Given the description of an element on the screen output the (x, y) to click on. 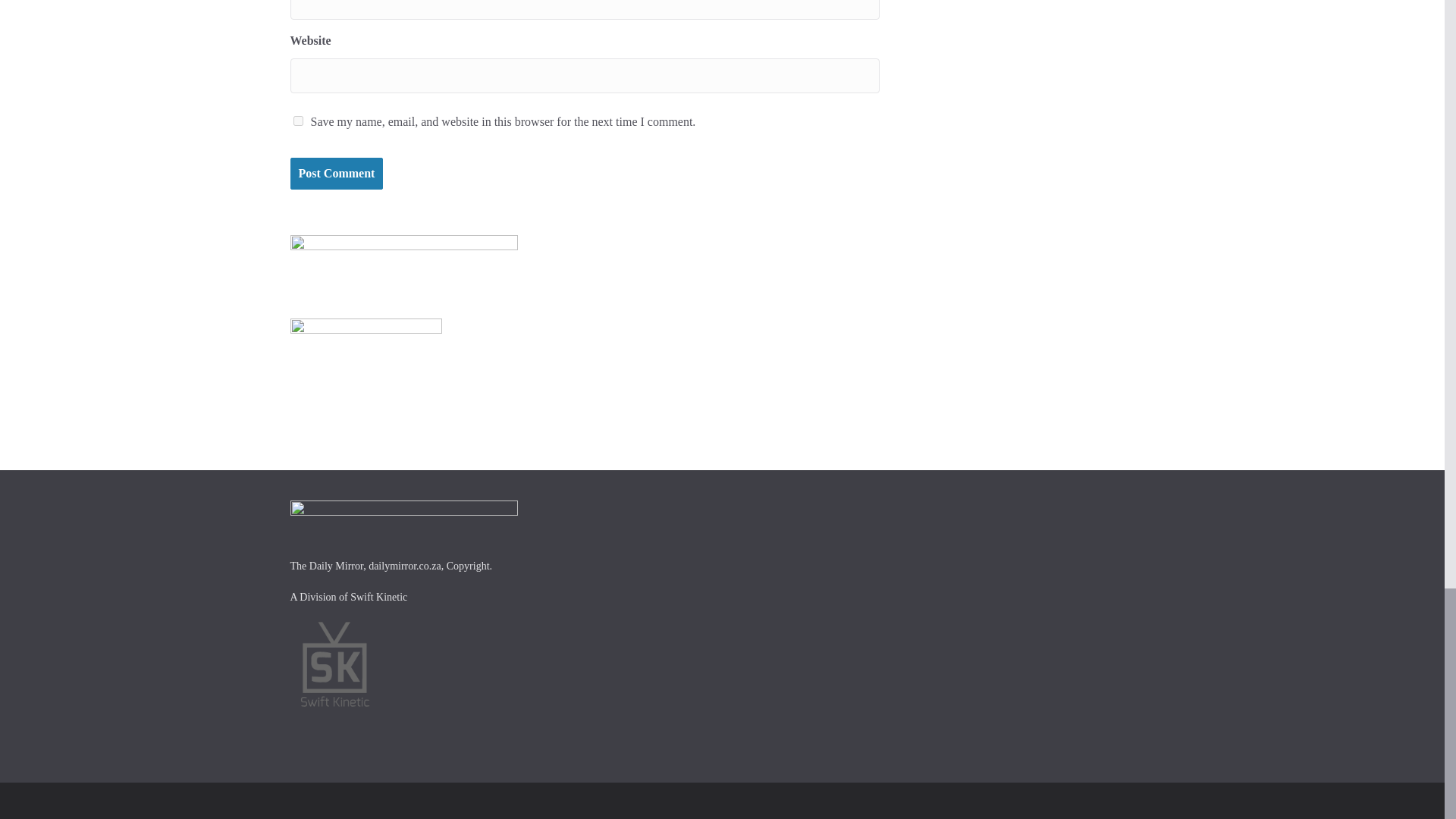
Post Comment (335, 174)
Post Comment (335, 174)
yes (297, 121)
